Given the description of an element on the screen output the (x, y) to click on. 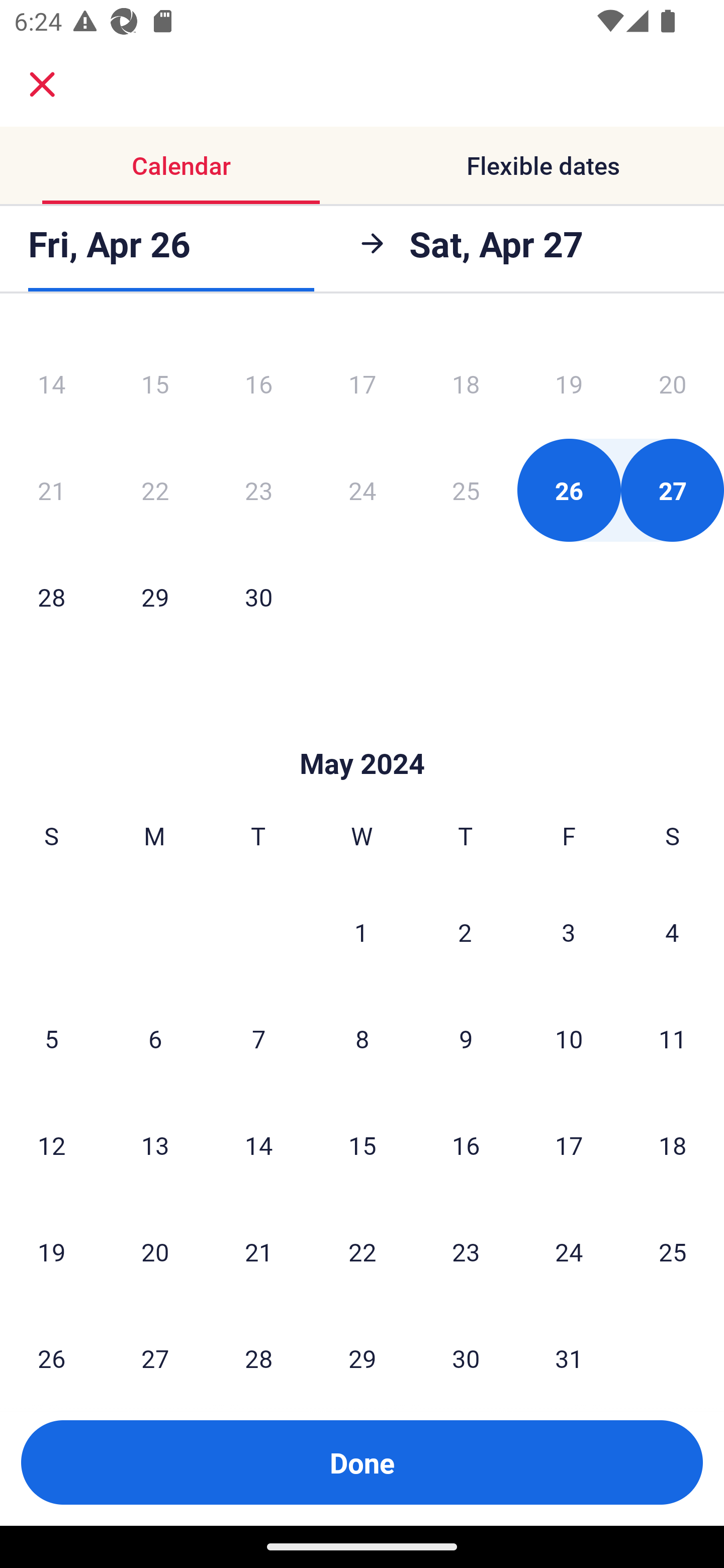
close. (42, 84)
Flexible dates (542, 164)
14 Sunday, April 14, 2024 (51, 383)
15 Monday, April 15, 2024 (155, 383)
16 Tuesday, April 16, 2024 (258, 383)
17 Wednesday, April 17, 2024 (362, 383)
18 Thursday, April 18, 2024 (465, 383)
19 Friday, April 19, 2024 (569, 383)
20 Saturday, April 20, 2024 (672, 383)
21 Sunday, April 21, 2024 (51, 490)
22 Monday, April 22, 2024 (155, 490)
23 Tuesday, April 23, 2024 (258, 490)
24 Wednesday, April 24, 2024 (362, 490)
25 Thursday, April 25, 2024 (465, 490)
28 Sunday, April 28, 2024 (51, 596)
29 Monday, April 29, 2024 (155, 596)
30 Tuesday, April 30, 2024 (258, 596)
Skip to Done (362, 733)
1 Wednesday, May 1, 2024 (361, 932)
2 Thursday, May 2, 2024 (464, 932)
3 Friday, May 3, 2024 (568, 932)
4 Saturday, May 4, 2024 (672, 932)
5 Sunday, May 5, 2024 (51, 1037)
6 Monday, May 6, 2024 (155, 1037)
7 Tuesday, May 7, 2024 (258, 1037)
8 Wednesday, May 8, 2024 (362, 1037)
9 Thursday, May 9, 2024 (465, 1037)
10 Friday, May 10, 2024 (569, 1037)
11 Saturday, May 11, 2024 (672, 1037)
12 Sunday, May 12, 2024 (51, 1144)
13 Monday, May 13, 2024 (155, 1144)
14 Tuesday, May 14, 2024 (258, 1144)
15 Wednesday, May 15, 2024 (362, 1144)
16 Thursday, May 16, 2024 (465, 1144)
17 Friday, May 17, 2024 (569, 1144)
18 Saturday, May 18, 2024 (672, 1144)
19 Sunday, May 19, 2024 (51, 1251)
20 Monday, May 20, 2024 (155, 1251)
21 Tuesday, May 21, 2024 (258, 1251)
22 Wednesday, May 22, 2024 (362, 1251)
23 Thursday, May 23, 2024 (465, 1251)
24 Friday, May 24, 2024 (569, 1251)
25 Saturday, May 25, 2024 (672, 1251)
26 Sunday, May 26, 2024 (51, 1342)
27 Monday, May 27, 2024 (155, 1342)
28 Tuesday, May 28, 2024 (258, 1342)
29 Wednesday, May 29, 2024 (362, 1342)
30 Thursday, May 30, 2024 (465, 1342)
31 Friday, May 31, 2024 (569, 1342)
Done (361, 1462)
